Given the description of an element on the screen output the (x, y) to click on. 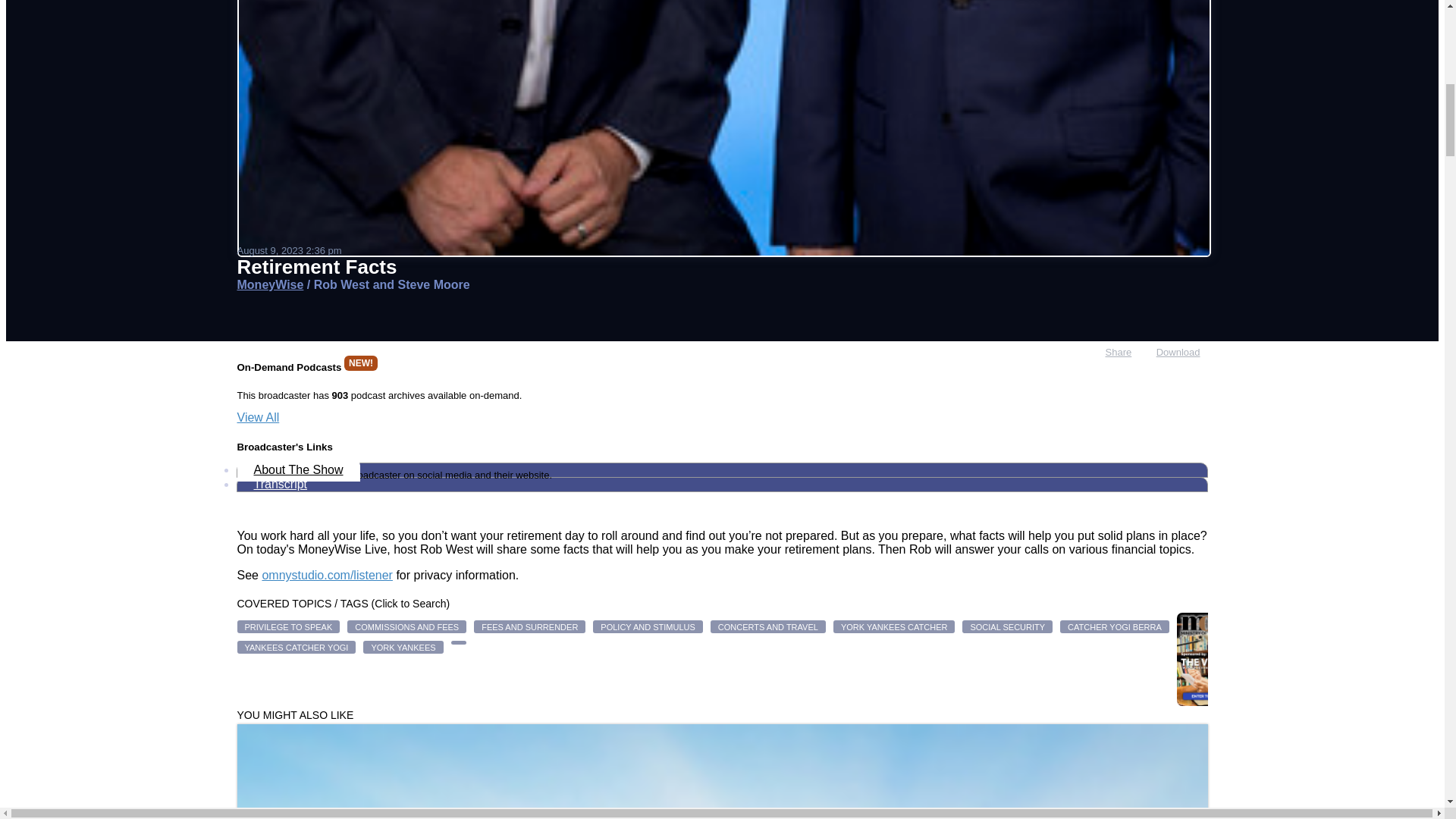
Go to Show Details (268, 284)
